Given the description of an element on the screen output the (x, y) to click on. 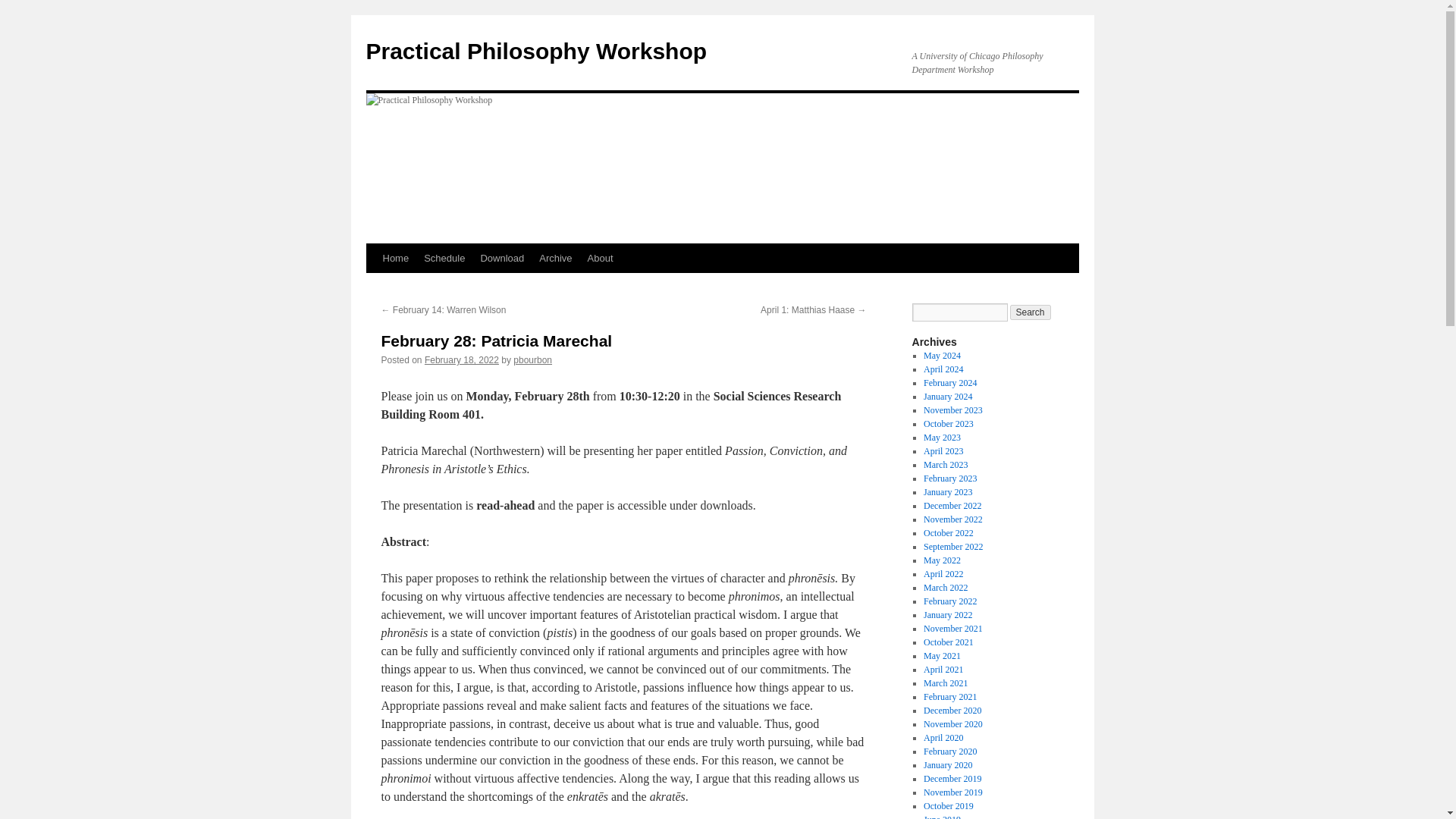
April 2022 (942, 573)
February 2022 (949, 601)
February 18, 2022 (462, 359)
Archive (555, 258)
Search (1030, 312)
November 2022 (952, 519)
View all posts by pbourbon (532, 359)
About (600, 258)
Search (1030, 312)
March 2023 (945, 464)
pbourbon (532, 359)
February 2024 (949, 382)
May 2024 (941, 355)
December 2022 (952, 505)
Download (501, 258)
